Given the description of an element on the screen output the (x, y) to click on. 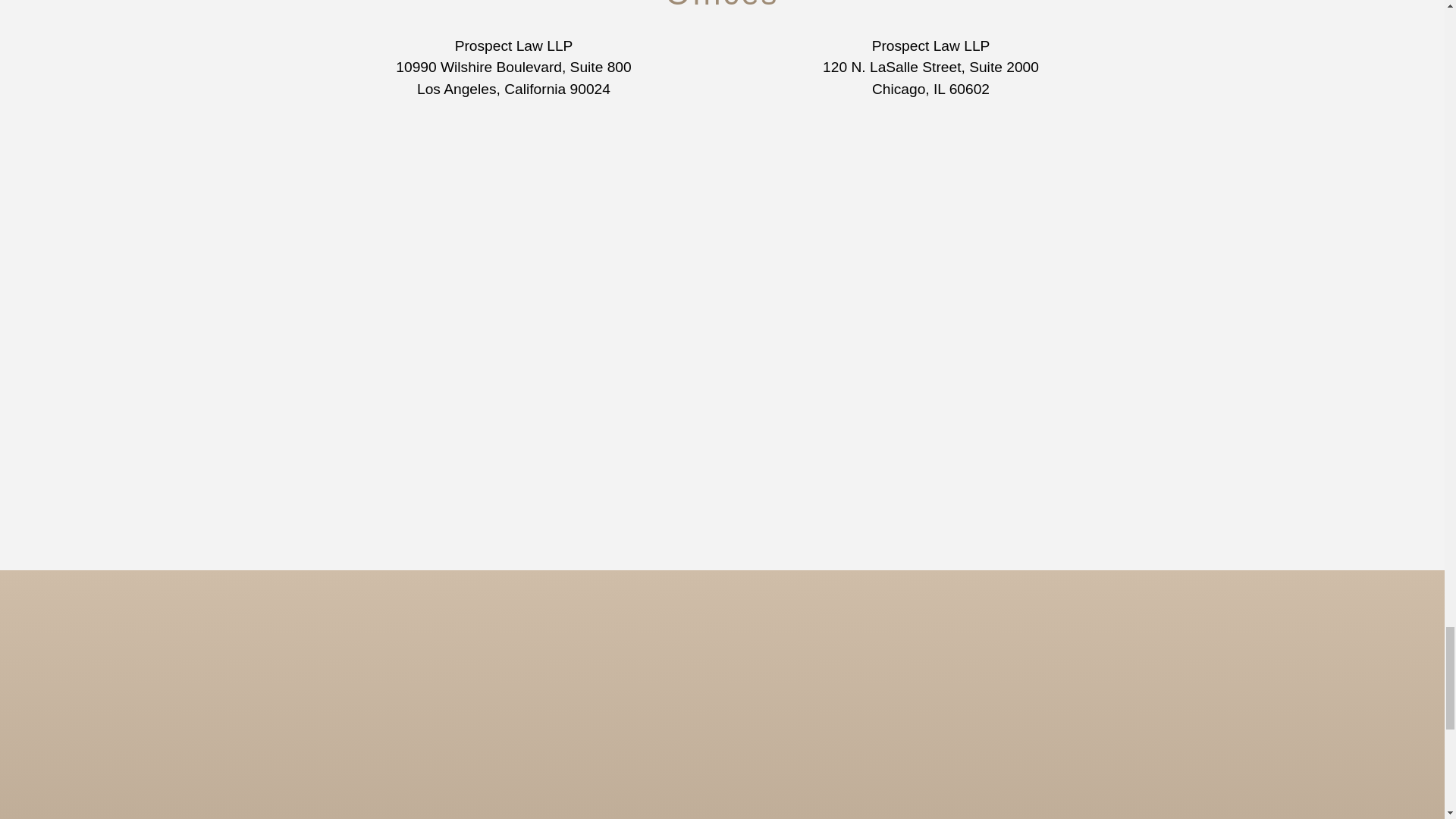
120 N. LaSalle Street, Suite 2000, Chicago, IL 60602 (930, 239)
